Given the description of an element on the screen output the (x, y) to click on. 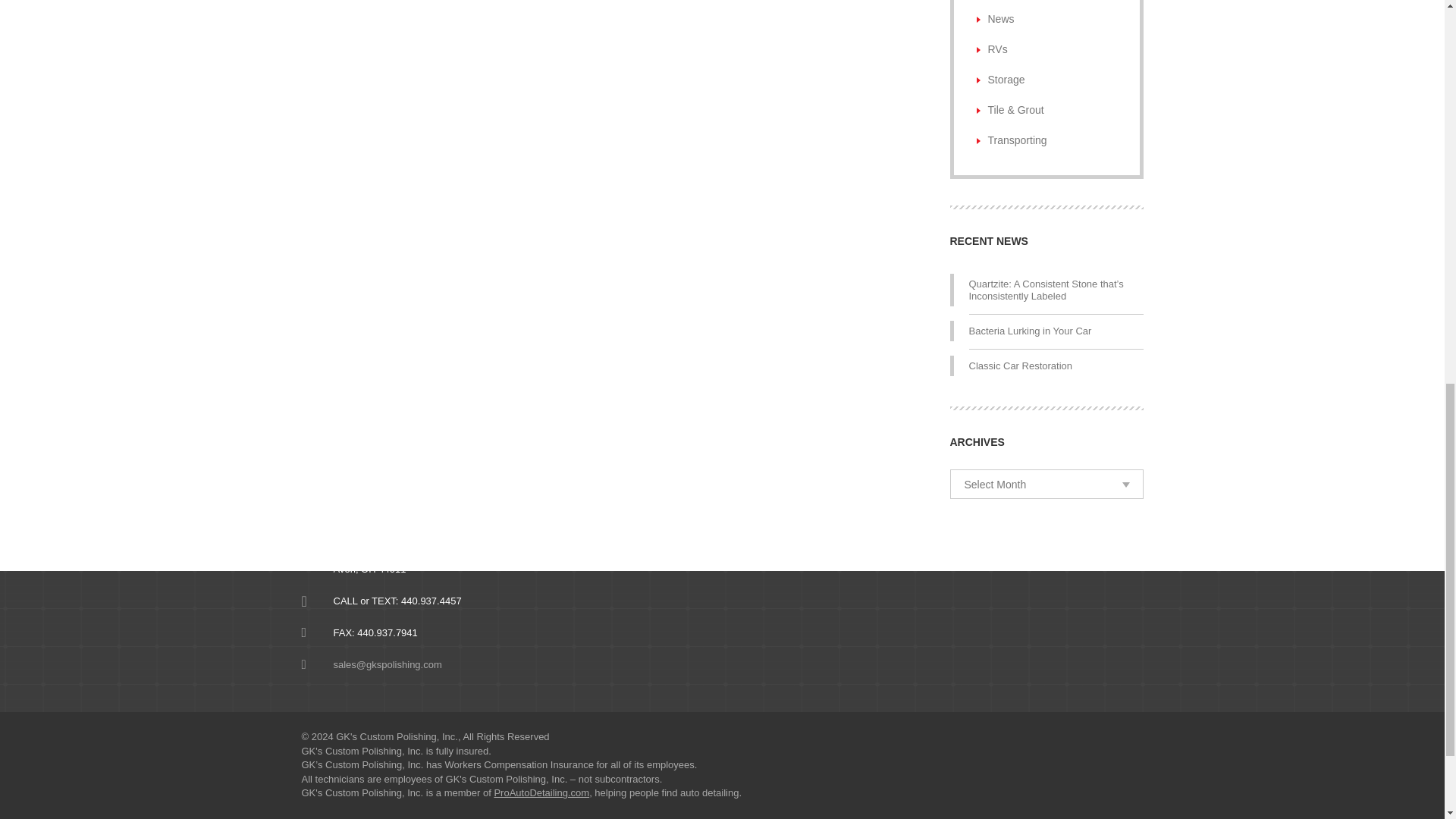
Select Month (1046, 484)
